Given the description of an element on the screen output the (x, y) to click on. 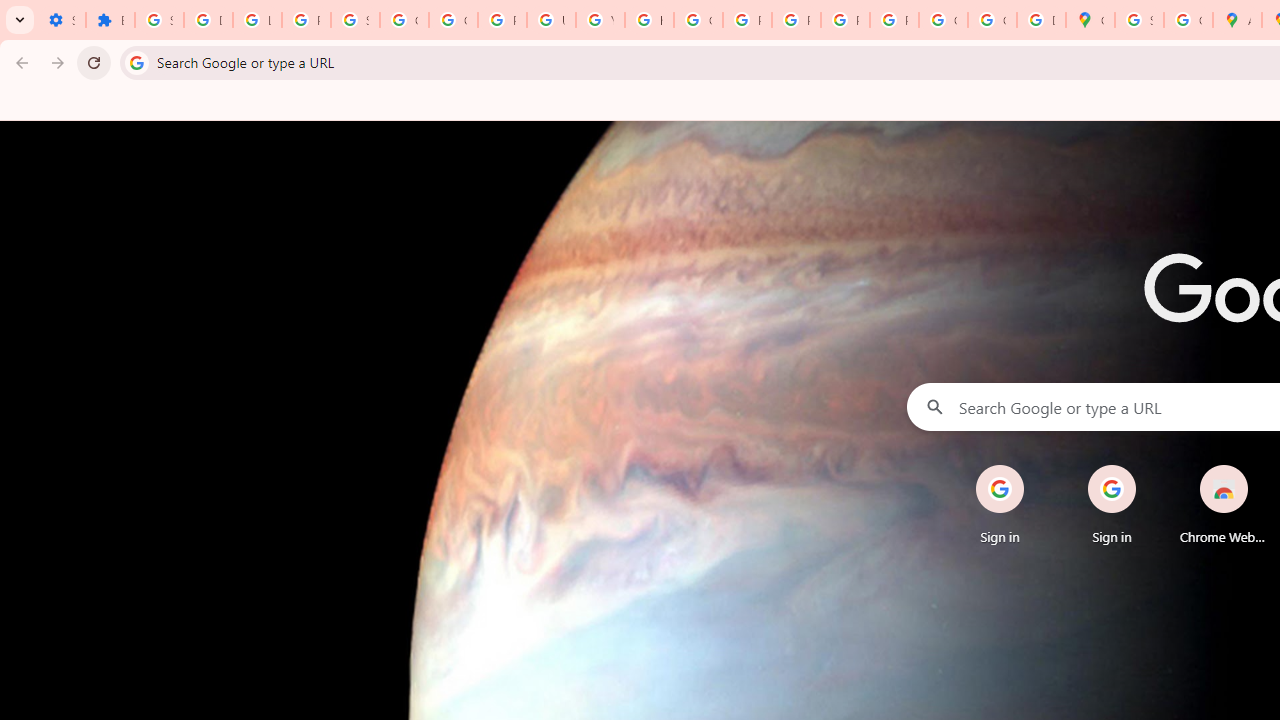
Chrome Web Store (1223, 504)
